Given the description of an element on the screen output the (x, y) to click on. 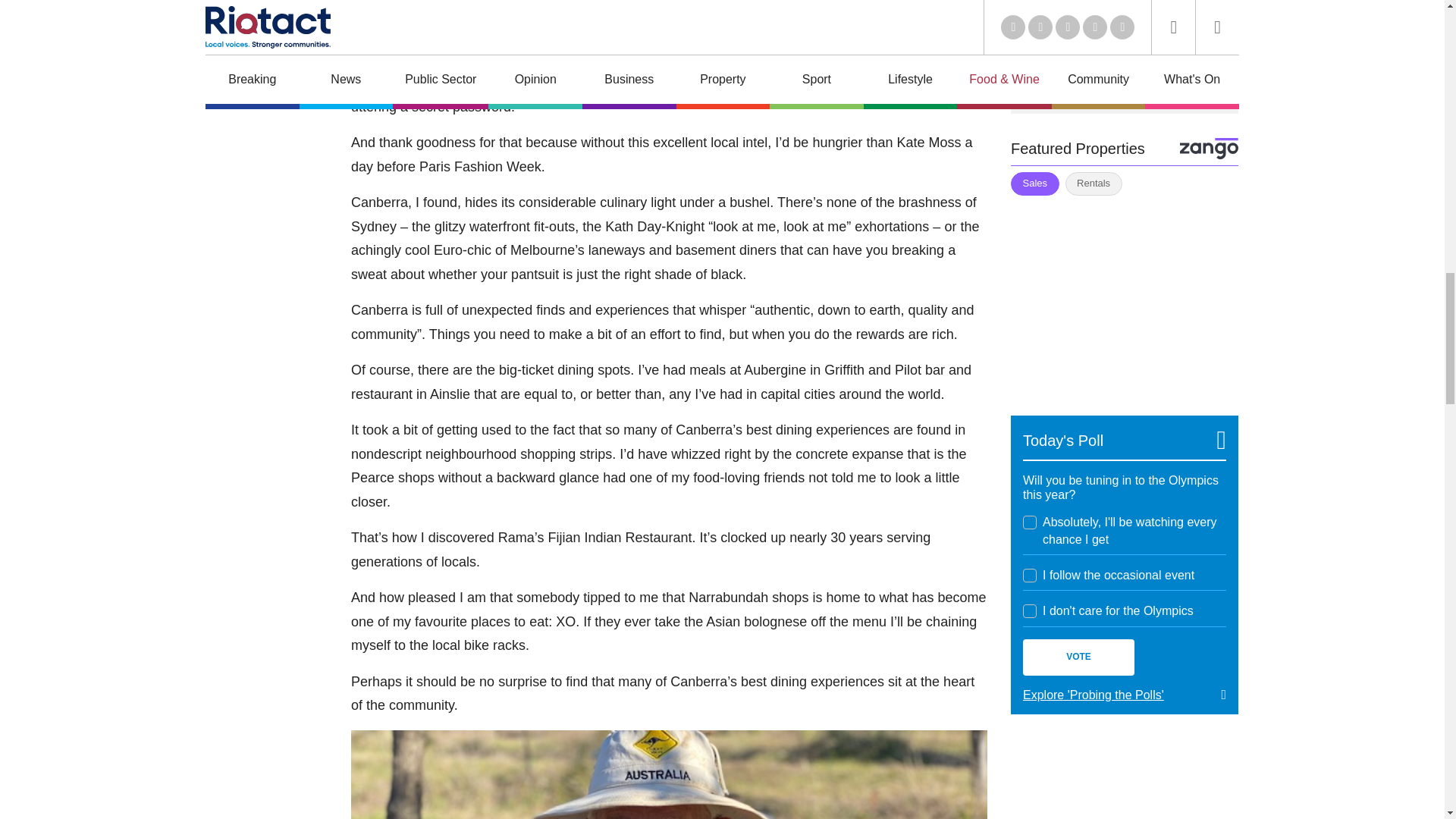
Zango Sales (1124, 296)
2043 (1029, 522)
   Vote    (1078, 657)
2045 (1029, 611)
Zango (1209, 148)
2044 (1029, 575)
